Given the description of an element on the screen output the (x, y) to click on. 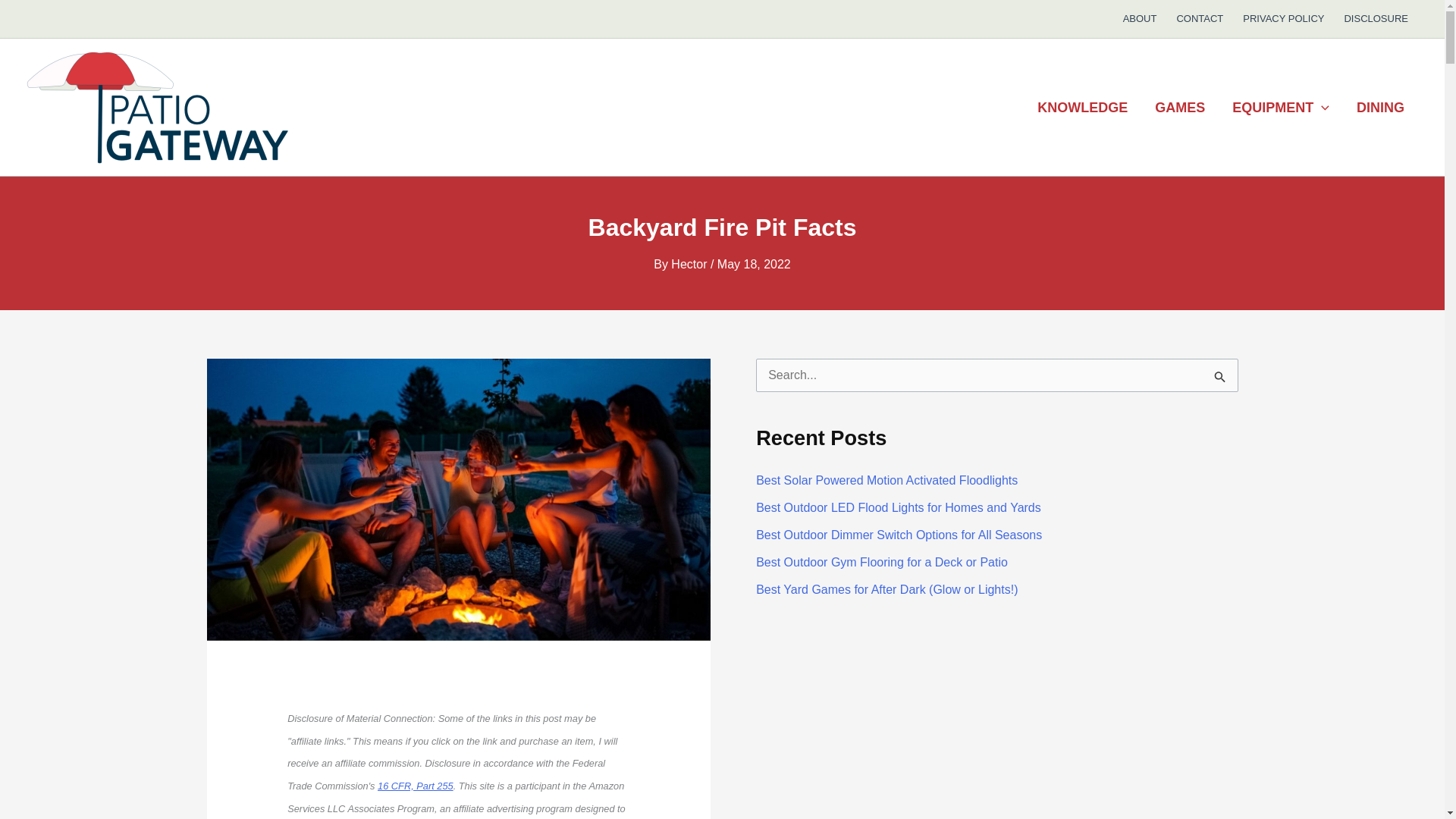
CONTACT (1199, 18)
GAMES (1179, 107)
ABOUT (1140, 18)
DISCLOSURE (1375, 18)
PRIVACY POLICY (1283, 18)
EQUIPMENT (1280, 107)
View all posts by Hector (690, 264)
DINING (1380, 107)
KNOWLEDGE (1082, 107)
